Given the description of an element on the screen output the (x, y) to click on. 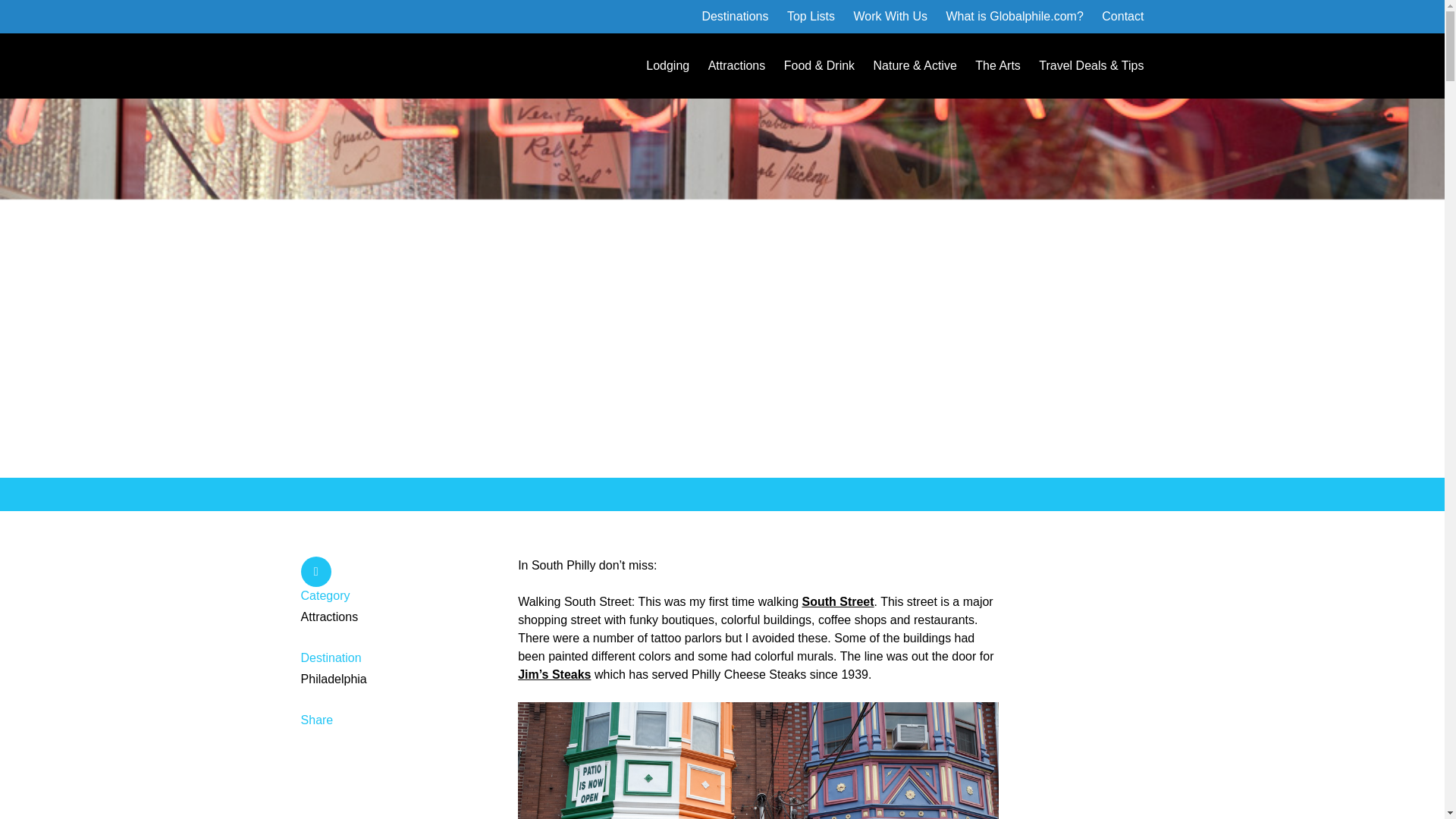
Top Lists (810, 16)
Work With Us (889, 16)
Destinations (734, 16)
What is Globalphile.com? (1013, 16)
The Arts (997, 65)
Attractions (736, 65)
Contact (1122, 16)
Globalphile (362, 65)
South Street (837, 601)
Lodging (667, 65)
